Given the description of an element on the screen output the (x, y) to click on. 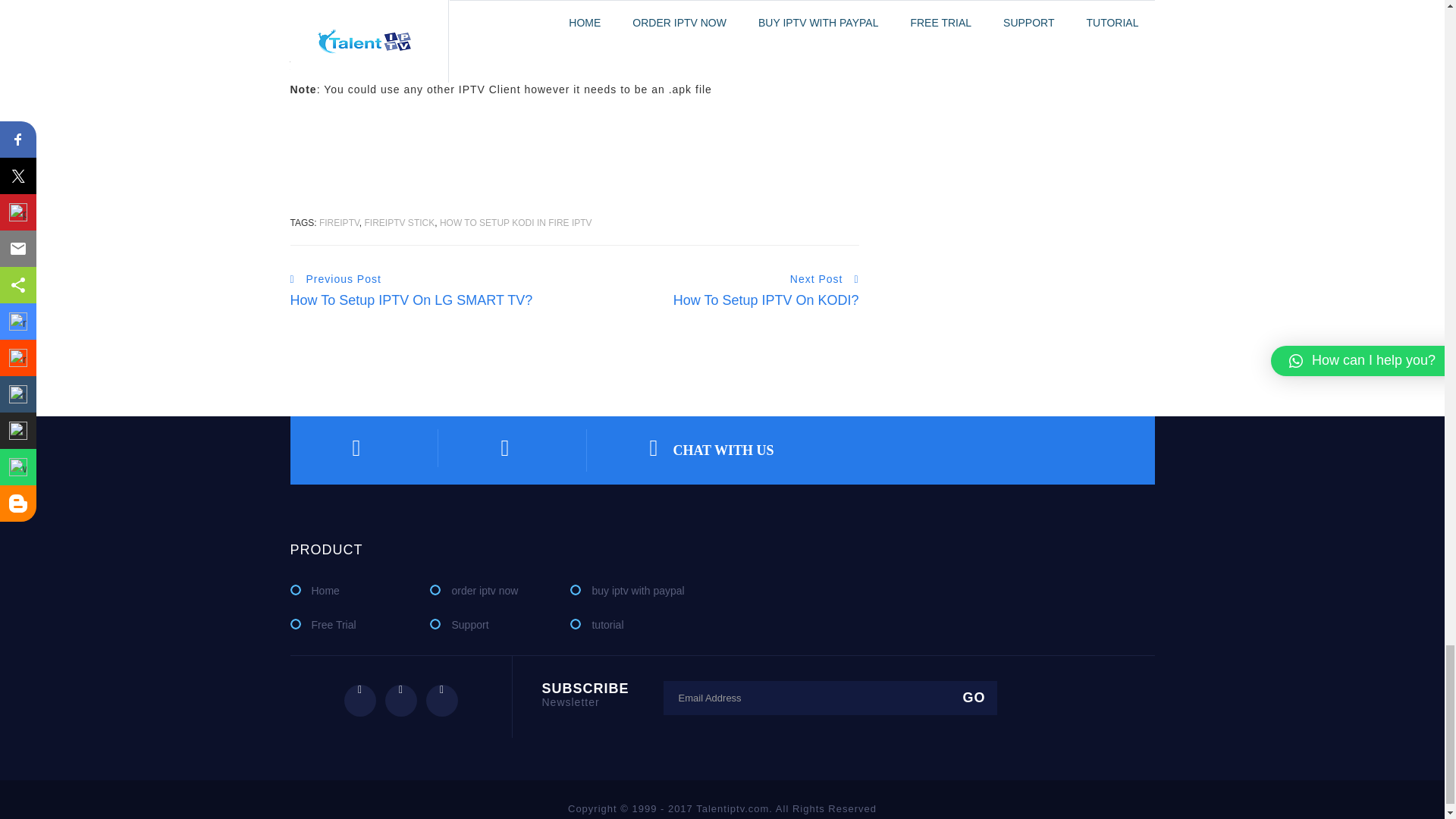
Support (458, 624)
How To Setup IPTV On LG SMART TV? (410, 300)
Home (314, 590)
How To Setup IPTV On KODI? (765, 300)
order iptv now (473, 590)
buy iptv with paypal (627, 590)
Previous Post (334, 279)
FIREIPTV (338, 222)
Free Trial (322, 624)
Go (972, 697)
tutorial (596, 624)
Next Post (824, 279)
CHAT WITH US (710, 450)
FIREIPTV STICK (400, 222)
HOW TO SETUP KODI IN FIRE IPTV (515, 222)
